Given the description of an element on the screen output the (x, y) to click on. 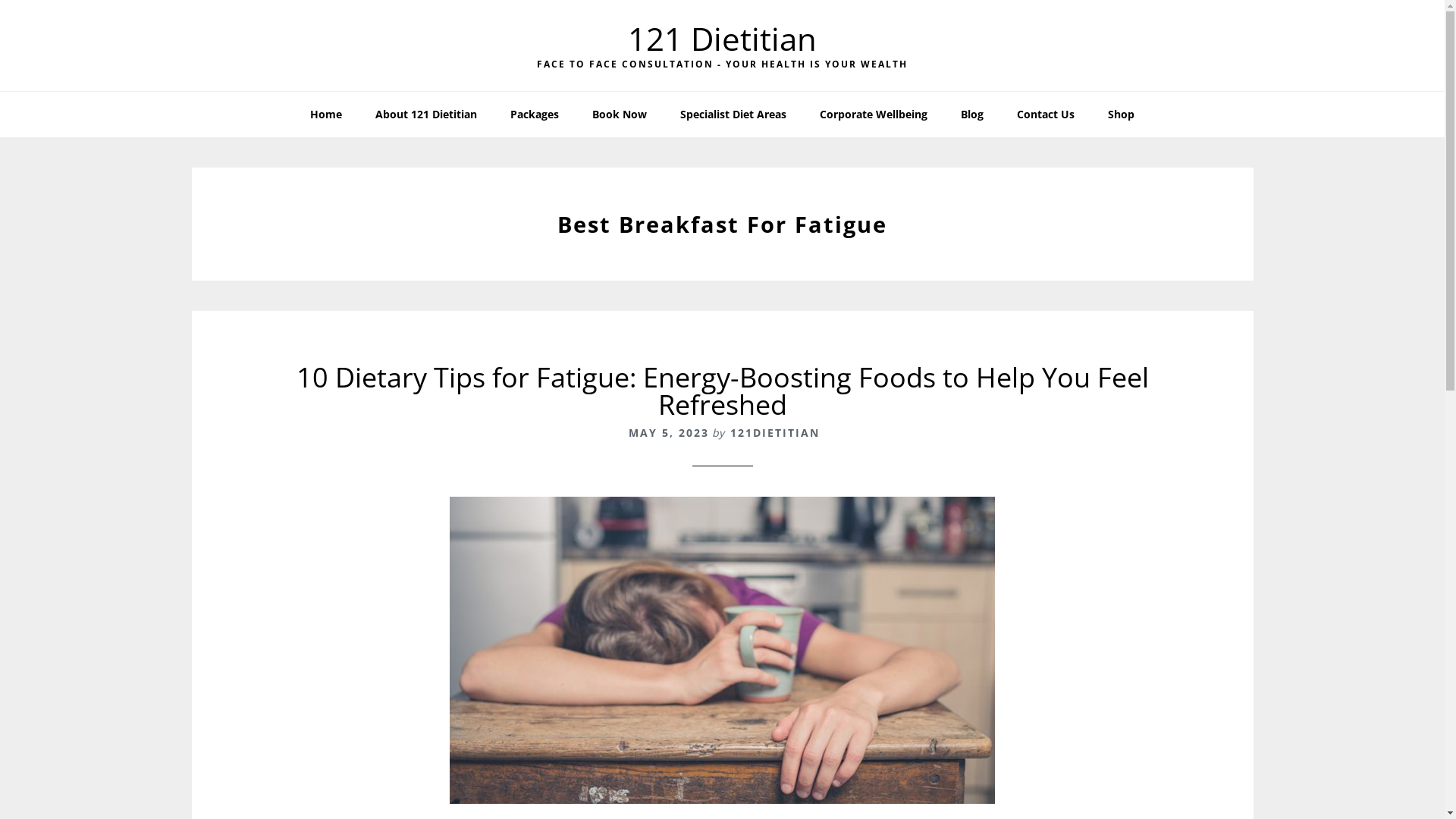
Contact Us Element type: text (1045, 114)
Skip to primary navigation Element type: text (0, 0)
Specialist Diet Areas Element type: text (733, 114)
121DIETITIAN Element type: text (774, 432)
121 Dietitian Element type: text (721, 37)
Shop Element type: text (1120, 114)
Corporate Wellbeing Element type: text (873, 114)
Packages Element type: text (534, 114)
Book Now Element type: text (619, 114)
Home Element type: text (325, 114)
Blog Element type: text (971, 114)
About 121 Dietitian Element type: text (426, 114)
